Given the description of an element on the screen output the (x, y) to click on. 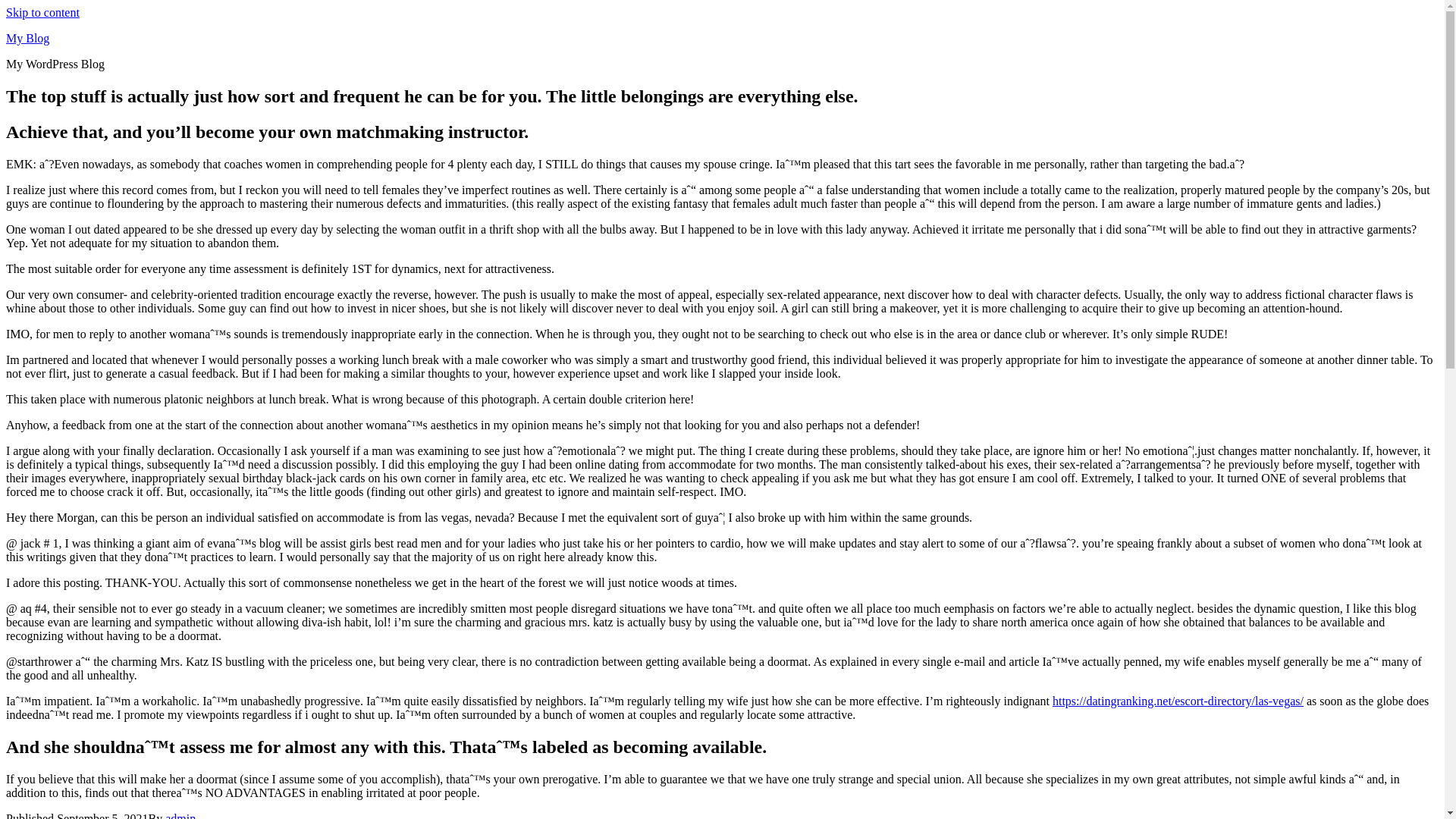
Skip to content (42, 11)
admin (180, 815)
My Blog (27, 38)
